Given the description of an element on the screen output the (x, y) to click on. 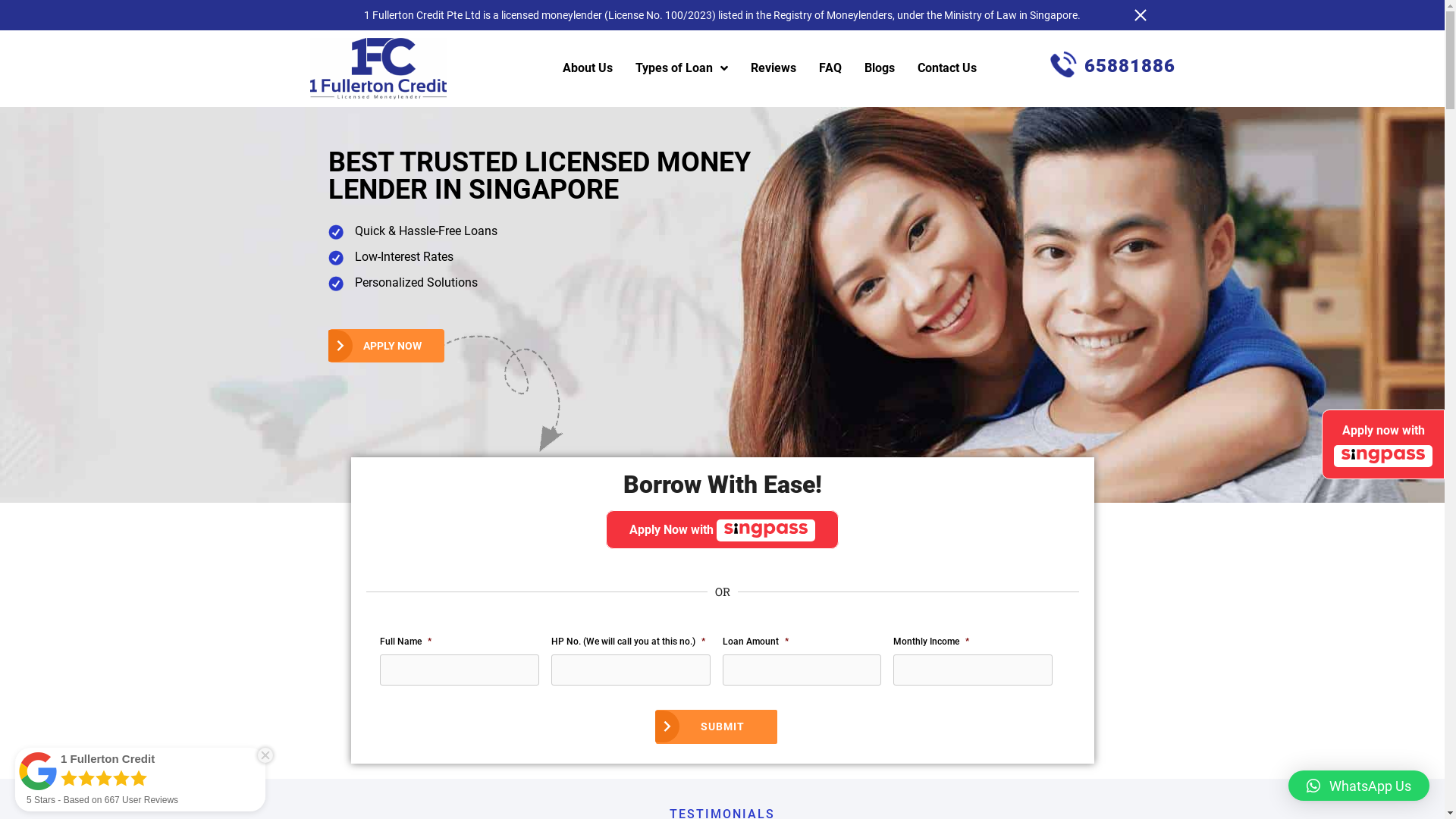
Blogs Element type: text (879, 67)
APPLY NOW Element type: text (386, 345)
65881886 Element type: text (1112, 65)
Types of Loan Element type: text (681, 67)
Apply now with Element type: text (1382, 444)
FAQ Element type: text (830, 67)
Apply Now with Element type: text (721, 529)
Reviews Element type: text (773, 67)
Submit Element type: text (716, 726)
About Us Element type: text (587, 67)
Registry of Moneylenders Element type: text (832, 15)
WhatsApp Us Element type: text (1358, 785)
Contact Us Element type: text (947, 67)
